Given the description of an element on the screen output the (x, y) to click on. 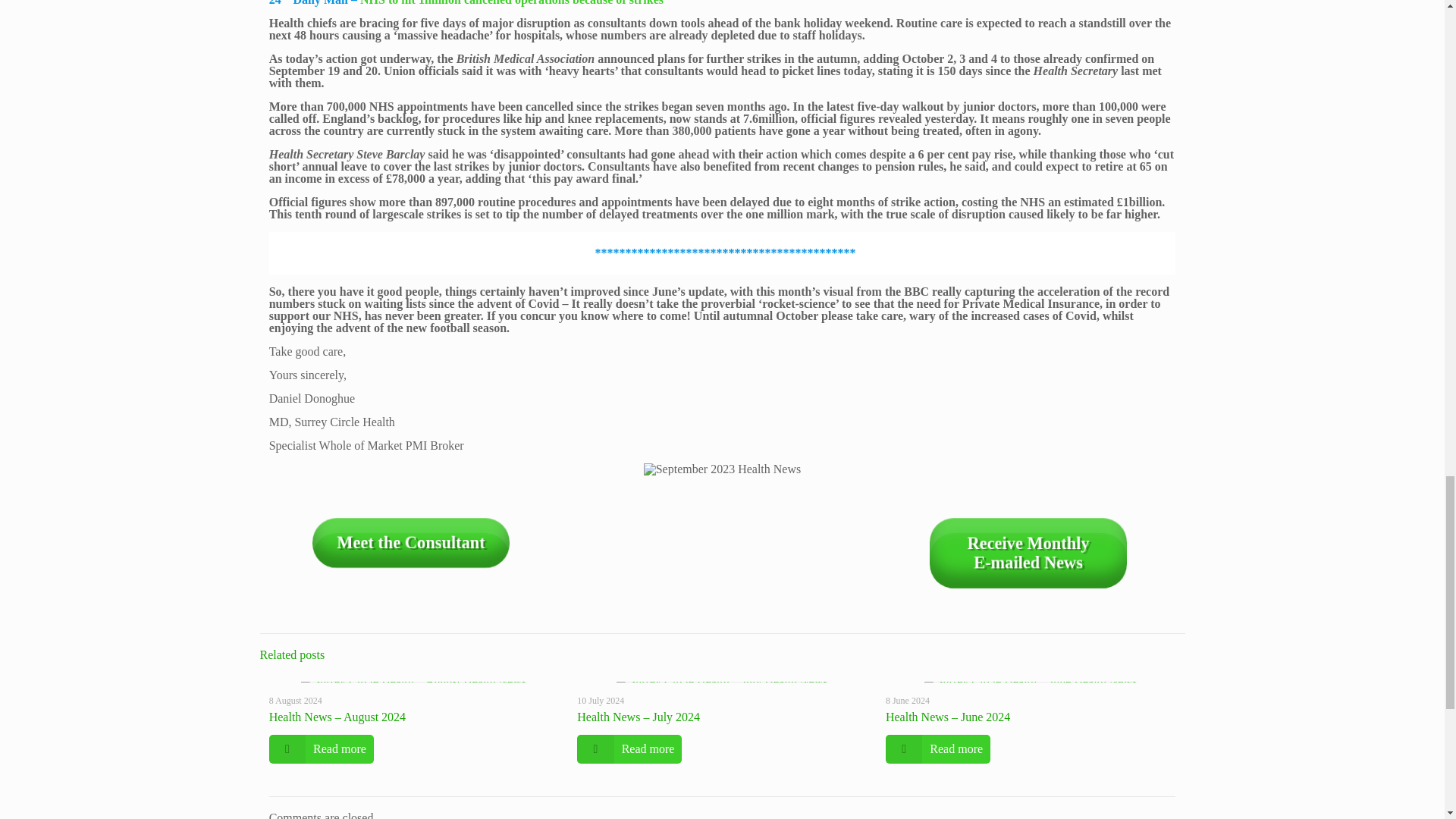
Meet the Consultant (407, 541)
Read more (1025, 552)
Read more (321, 748)
Read more (628, 748)
